Given the description of an element on the screen output the (x, y) to click on. 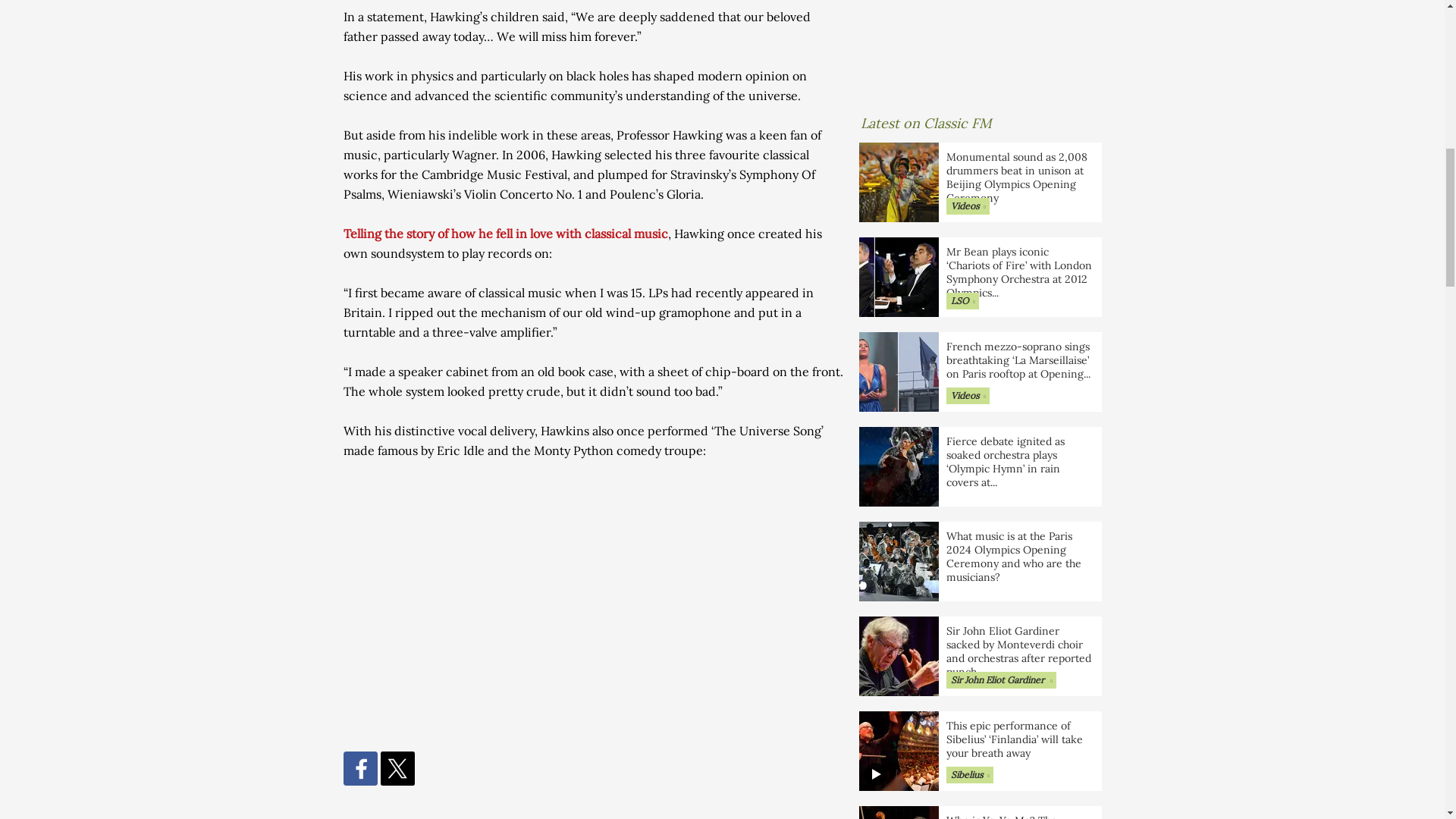
Videos (968, 206)
LSO (962, 300)
